Given the description of an element on the screen output the (x, y) to click on. 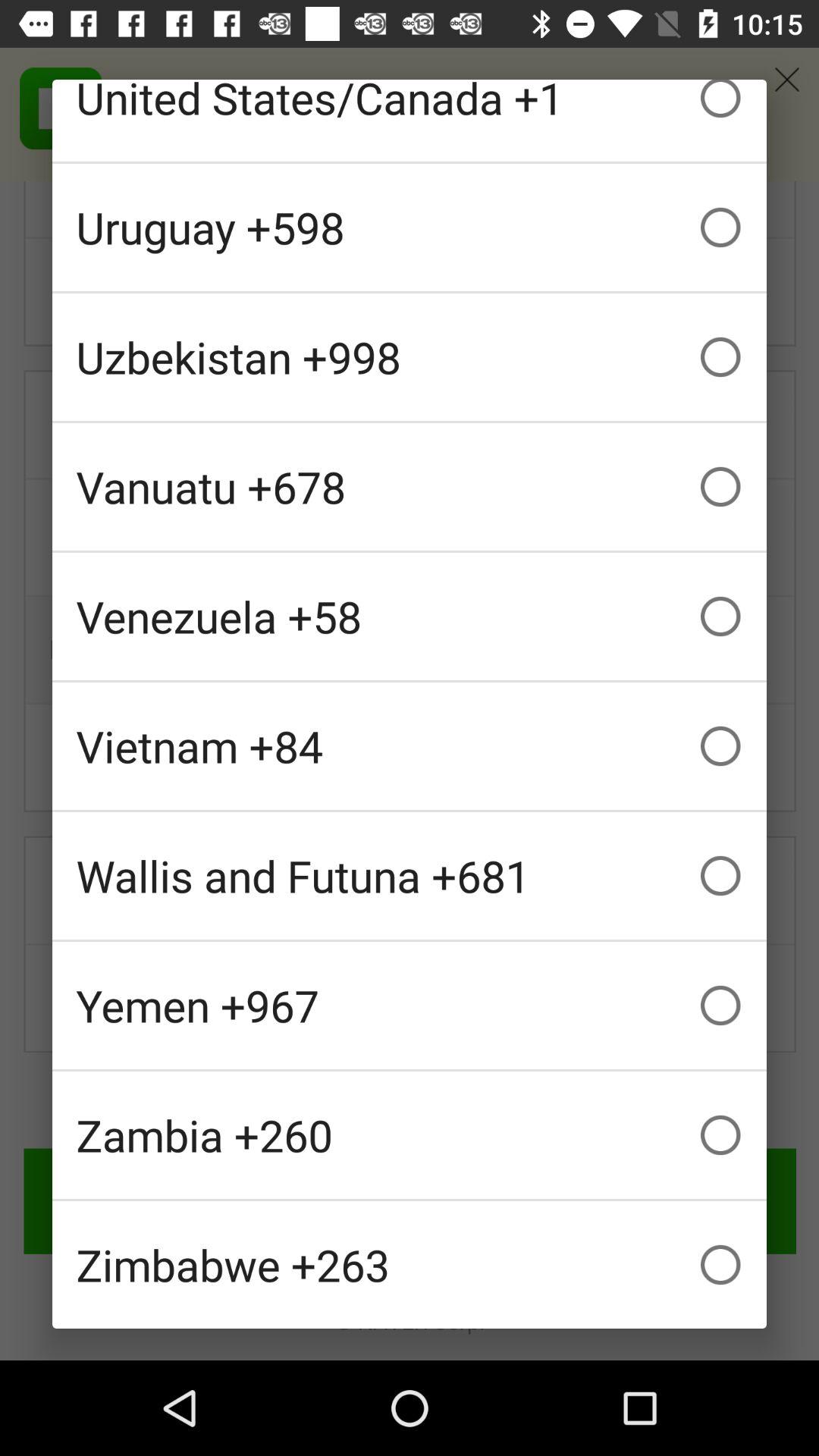
swipe to uruguay +598 icon (409, 227)
